Given the description of an element on the screen output the (x, y) to click on. 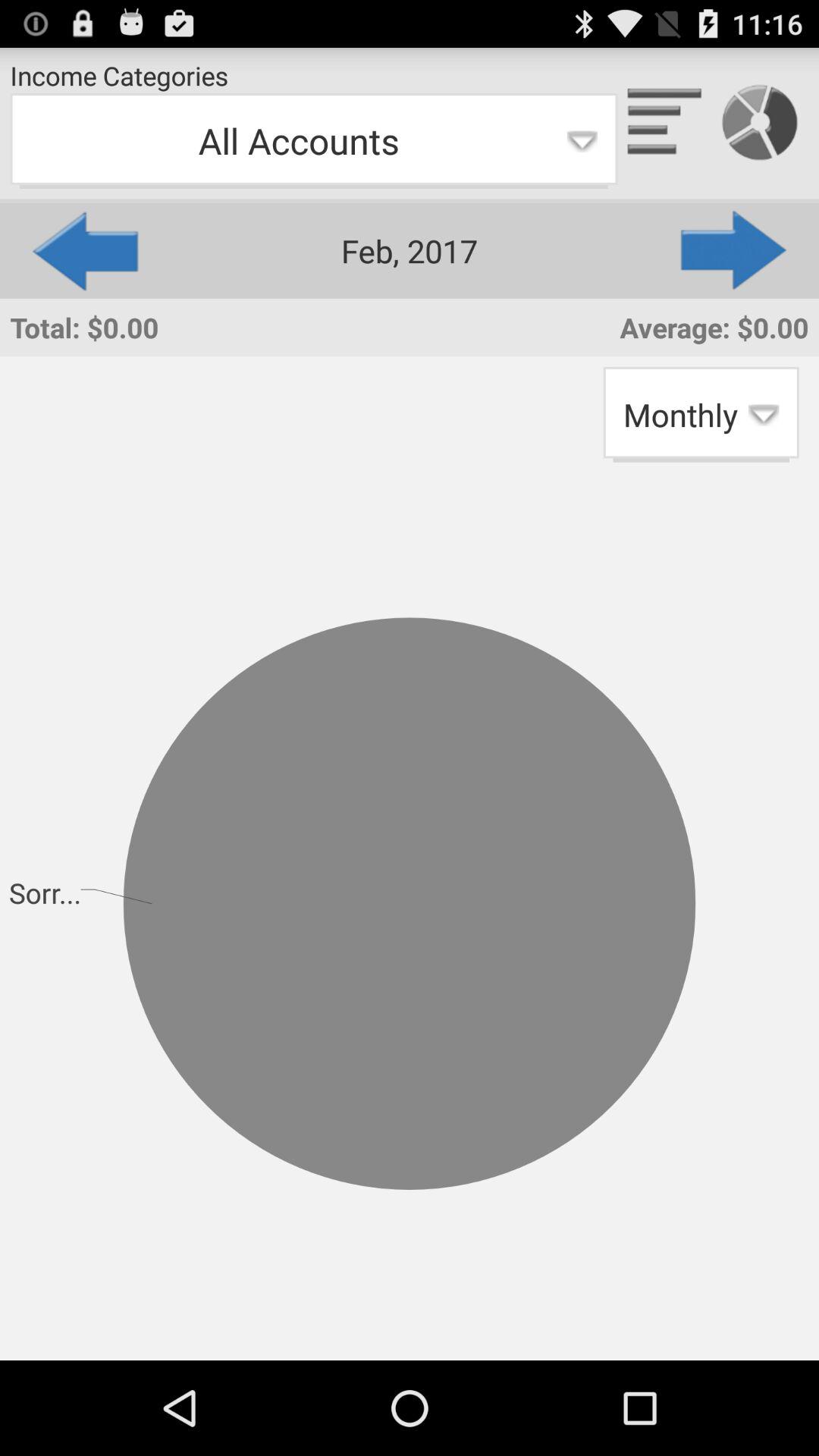
go to homepage (665, 123)
